Given the description of an element on the screen output the (x, y) to click on. 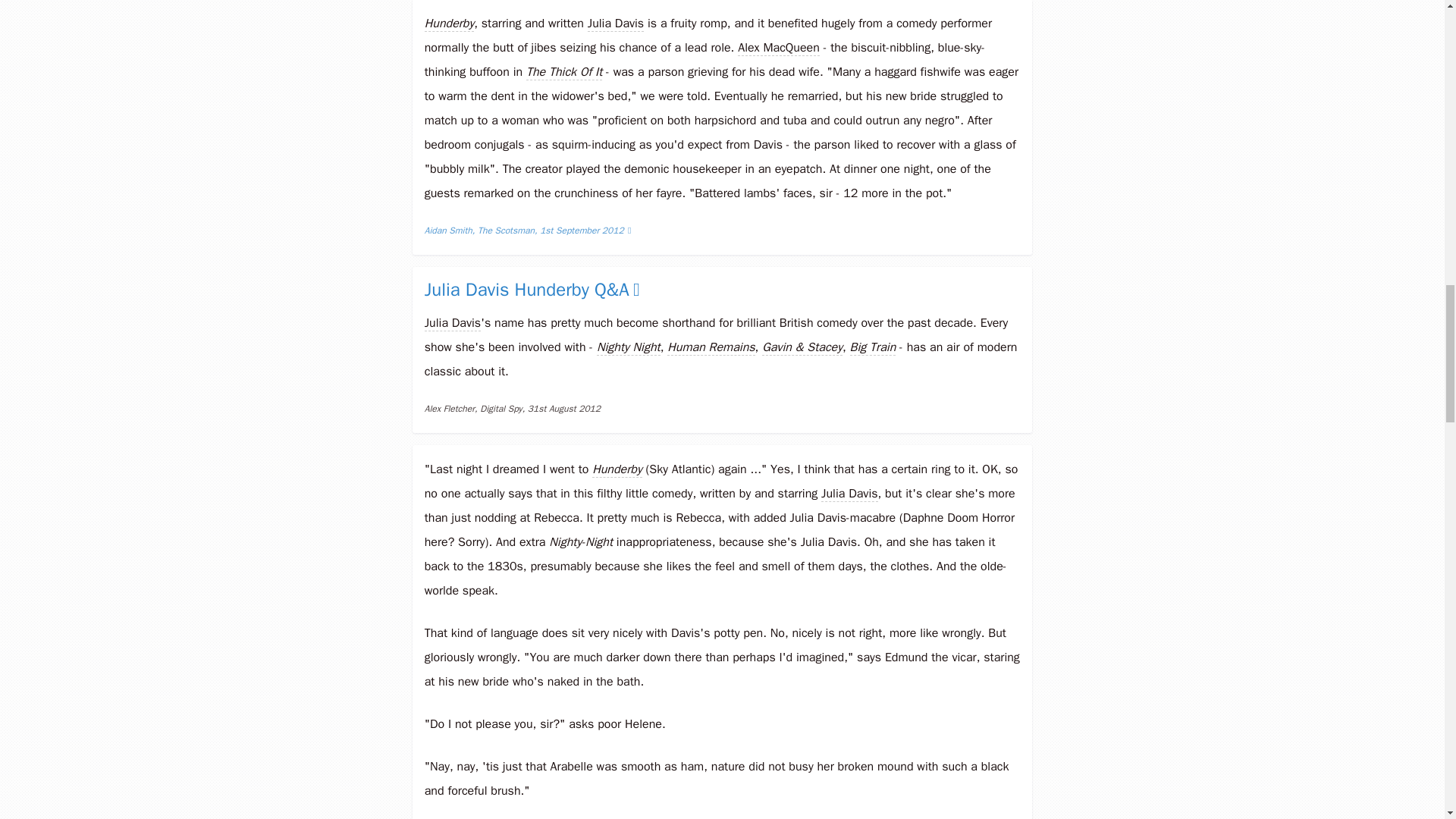
Julia Davis profile (452, 323)
Alex Macqueen profile (778, 48)
Julia Davis profile (615, 23)
